Given the description of an element on the screen output the (x, y) to click on. 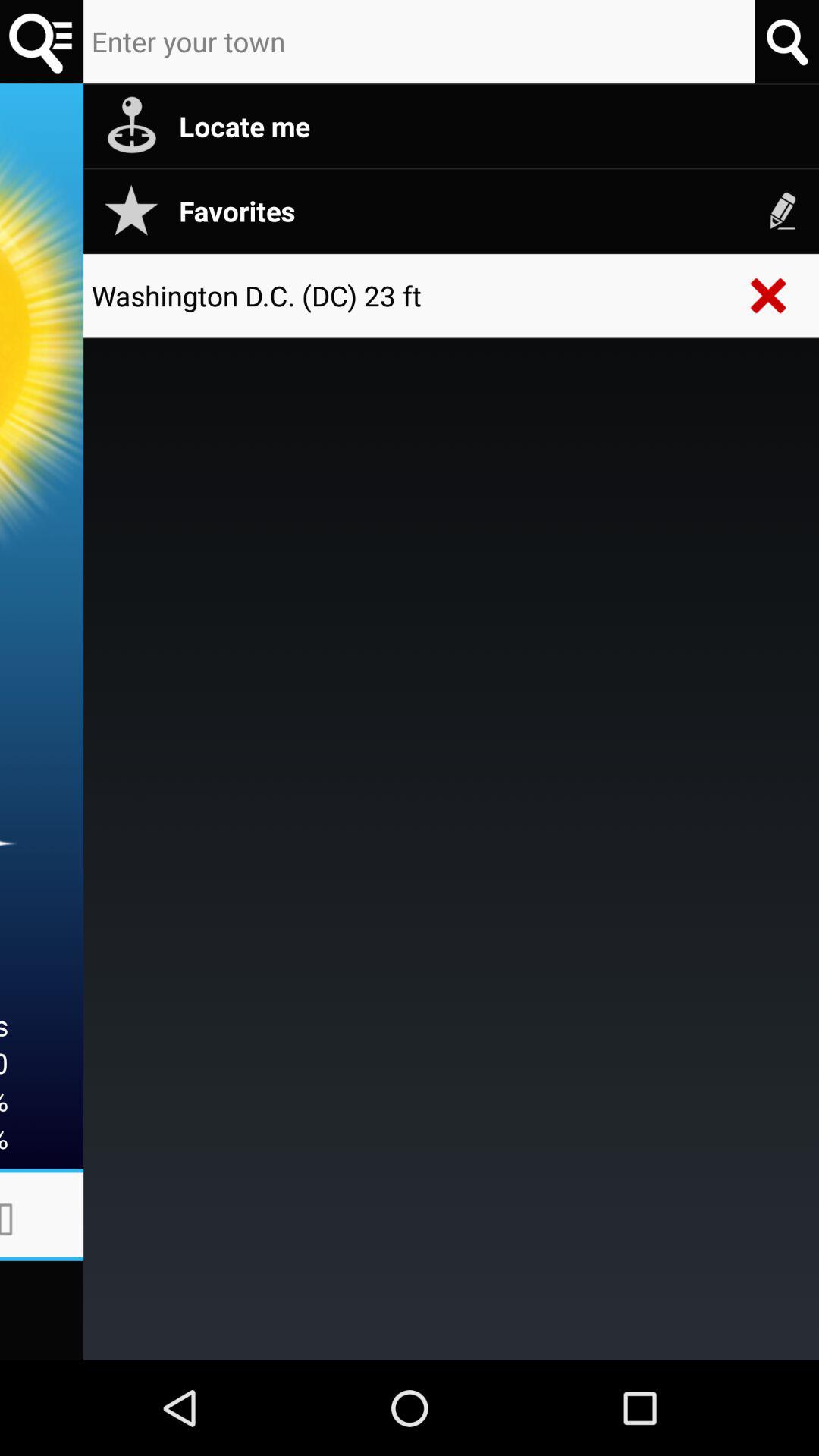
jump until locate me (491, 126)
